Given the description of an element on the screen output the (x, y) to click on. 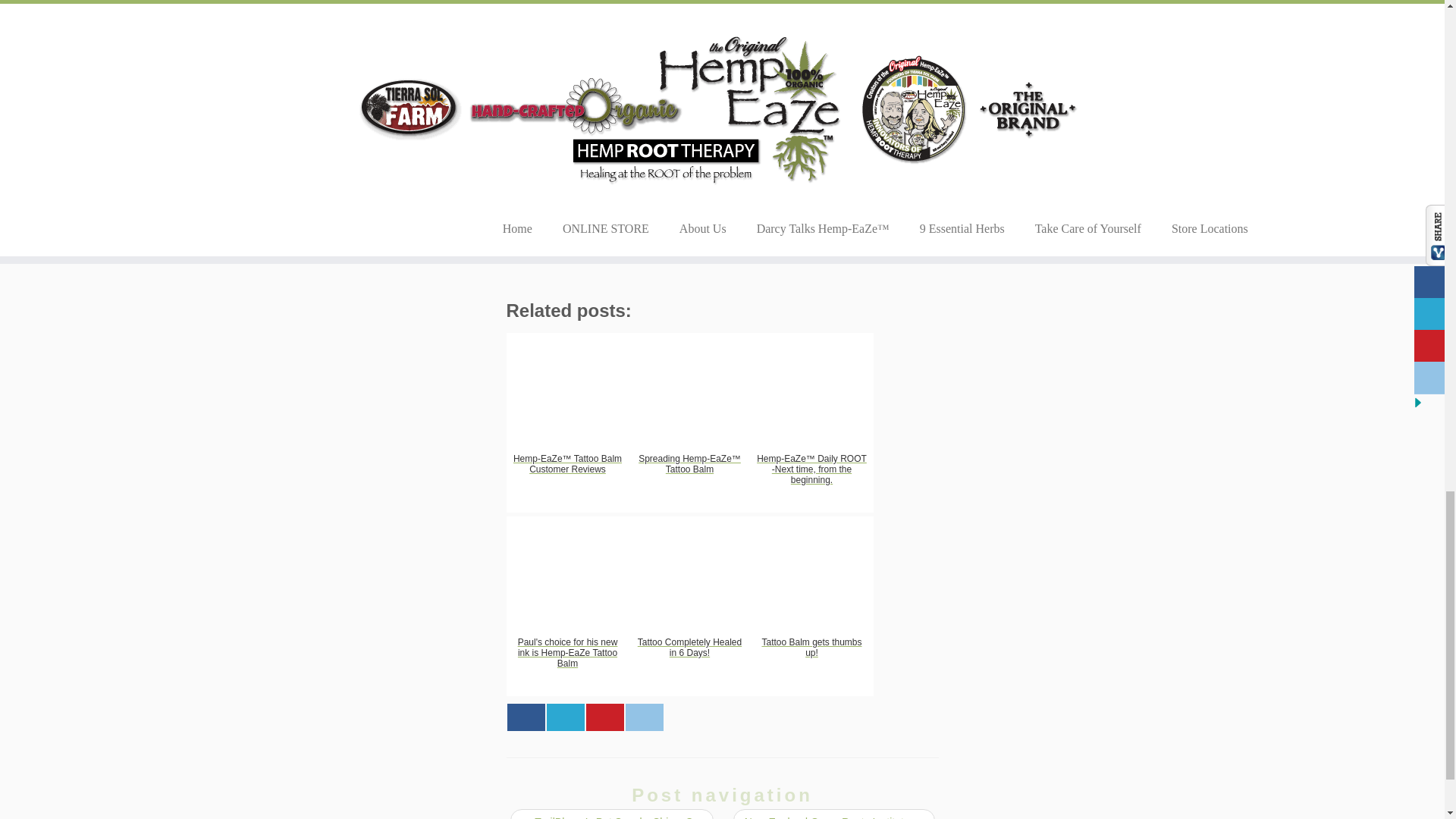
Share On Reddit (643, 717)
Share On Pinterest (604, 717)
Share On Twitter (564, 717)
Share On Facebook (525, 717)
